Given the description of an element on the screen output the (x, y) to click on. 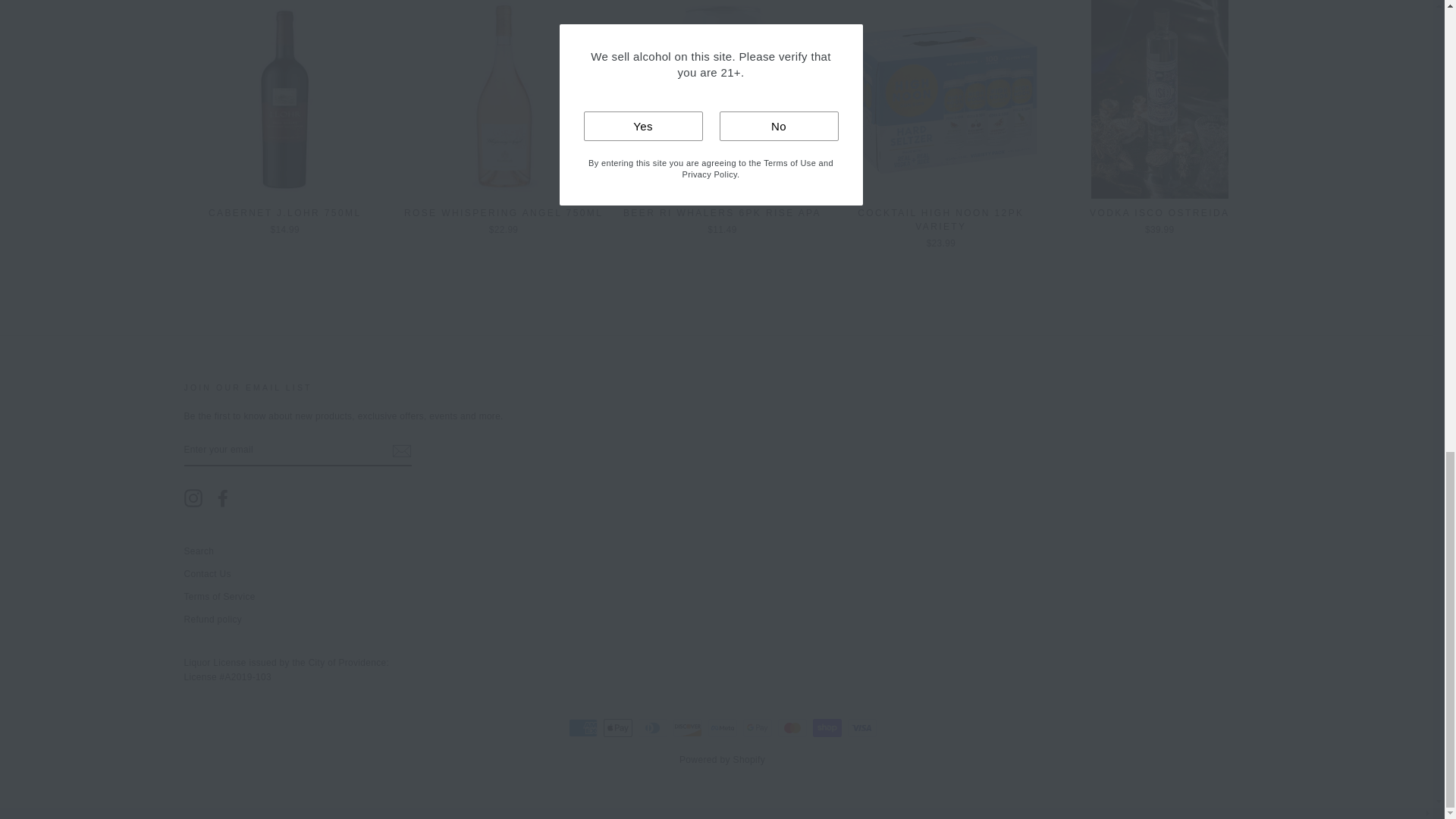
Apple Pay (617, 728)
Mastercard (791, 728)
Discover (686, 728)
Visa (861, 728)
American Express (582, 728)
Google Pay (756, 728)
Shop Pay (826, 728)
Meta Pay (721, 728)
Diners Club (652, 728)
